Given the description of an element on the screen output the (x, y) to click on. 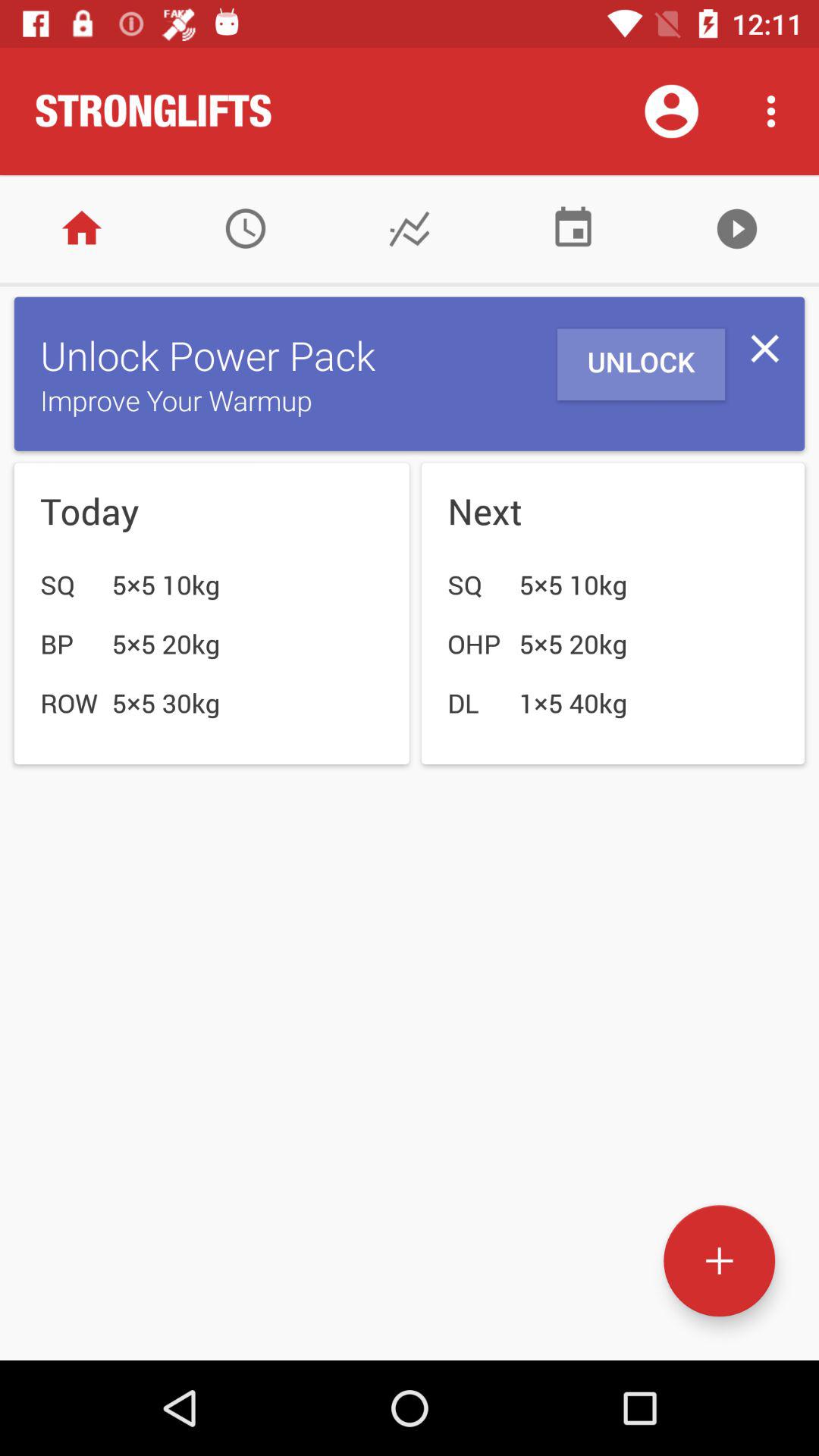
status check (409, 228)
